Given the description of an element on the screen output the (x, y) to click on. 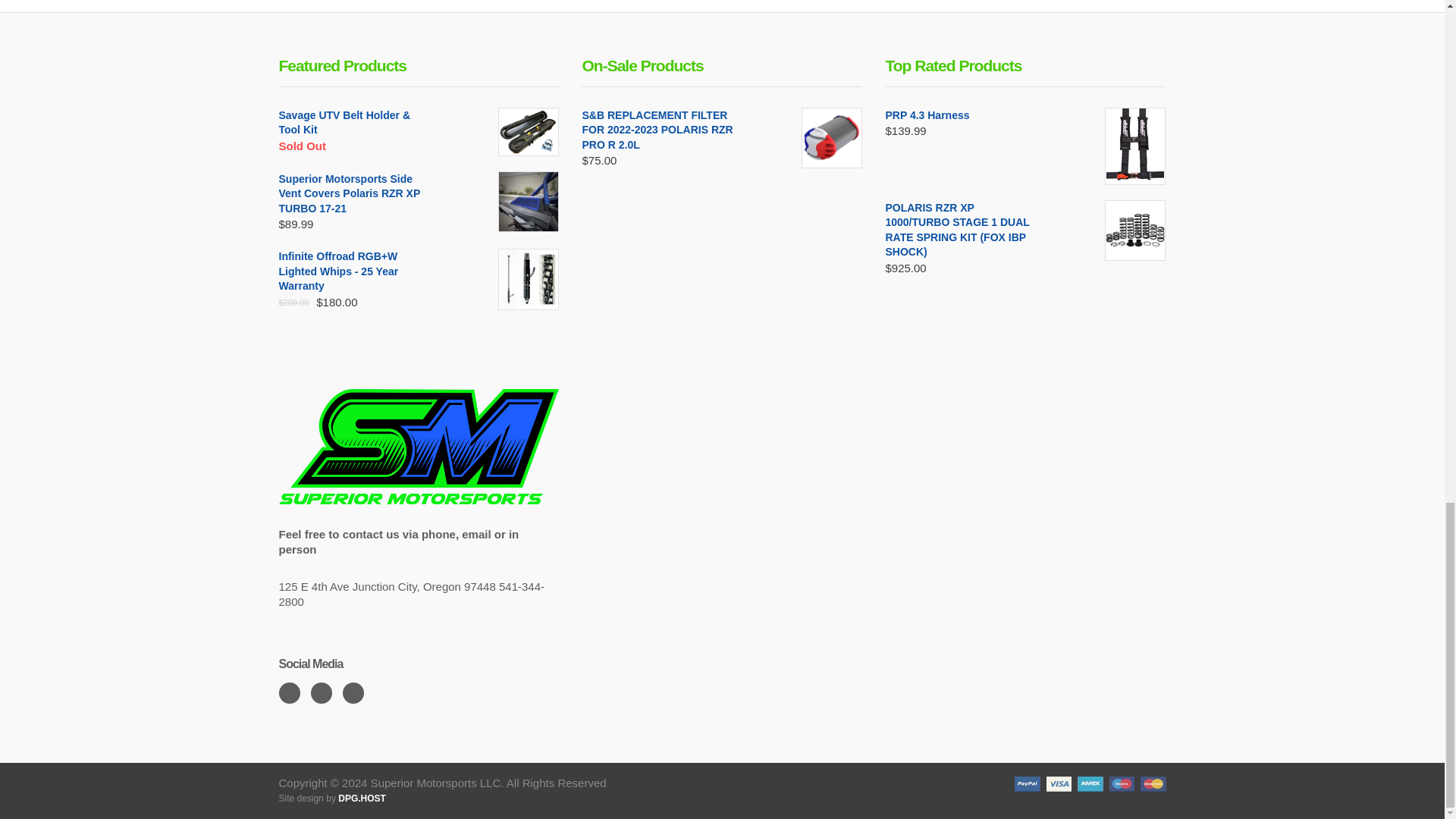
Superior Motorsport (419, 445)
Facebook (289, 692)
